Given the description of an element on the screen output the (x, y) to click on. 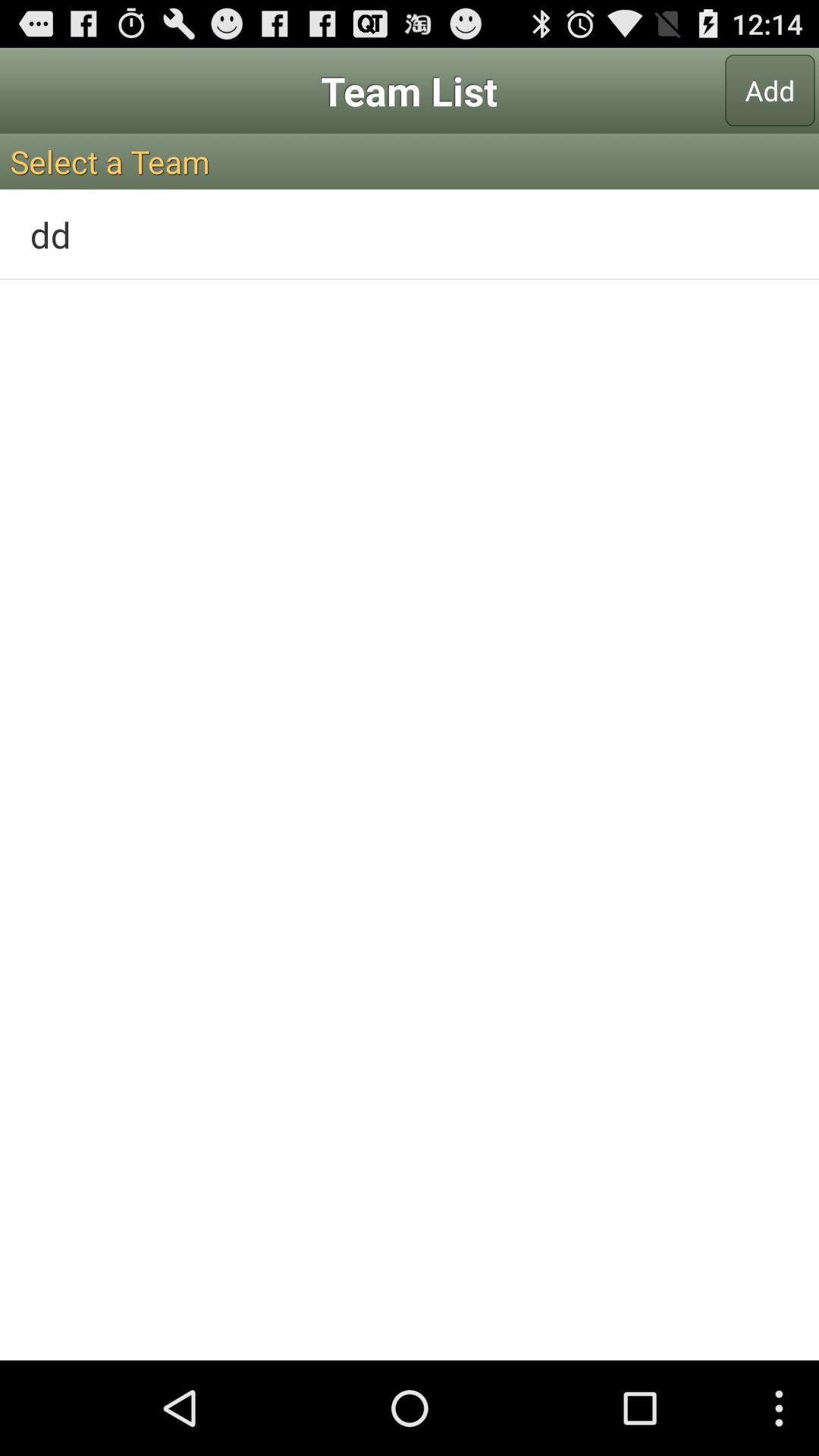
select icon above dd icon (409, 161)
